Given the description of an element on the screen output the (x, y) to click on. 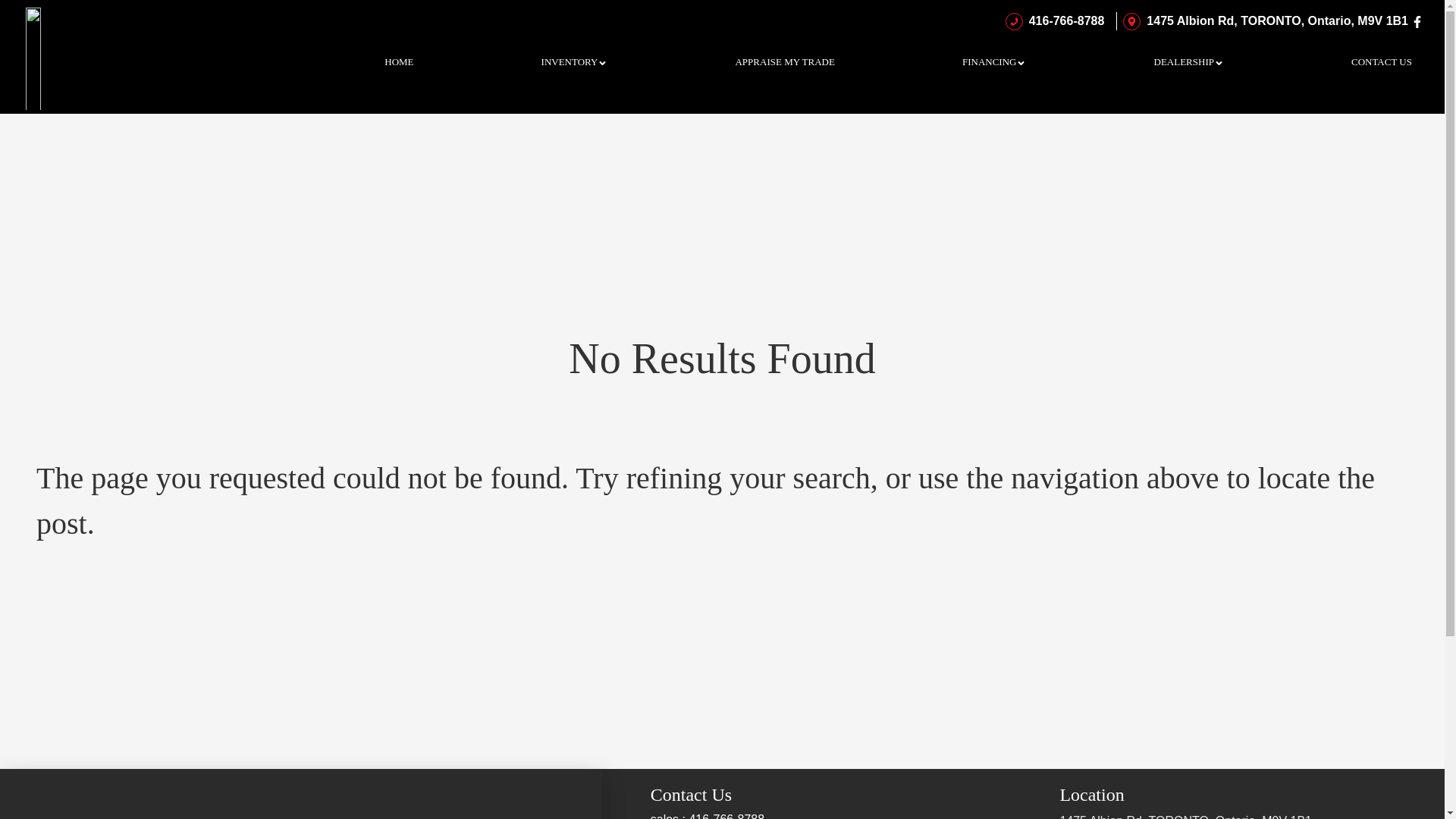
FINANCING Element type: text (994, 61)
INVENTORY Element type: text (574, 61)
416-766-8788 Element type: text (1051, 21)
1475 Albion Rd, TORONTO, Ontario, M9V 1B1 Element type: text (1262, 21)
APPRAISE MY TRADE Element type: text (784, 61)
CONTACT US Element type: text (1381, 61)
HOME Element type: text (398, 61)
DEALERSHIP Element type: text (1188, 61)
